Given the description of an element on the screen output the (x, y) to click on. 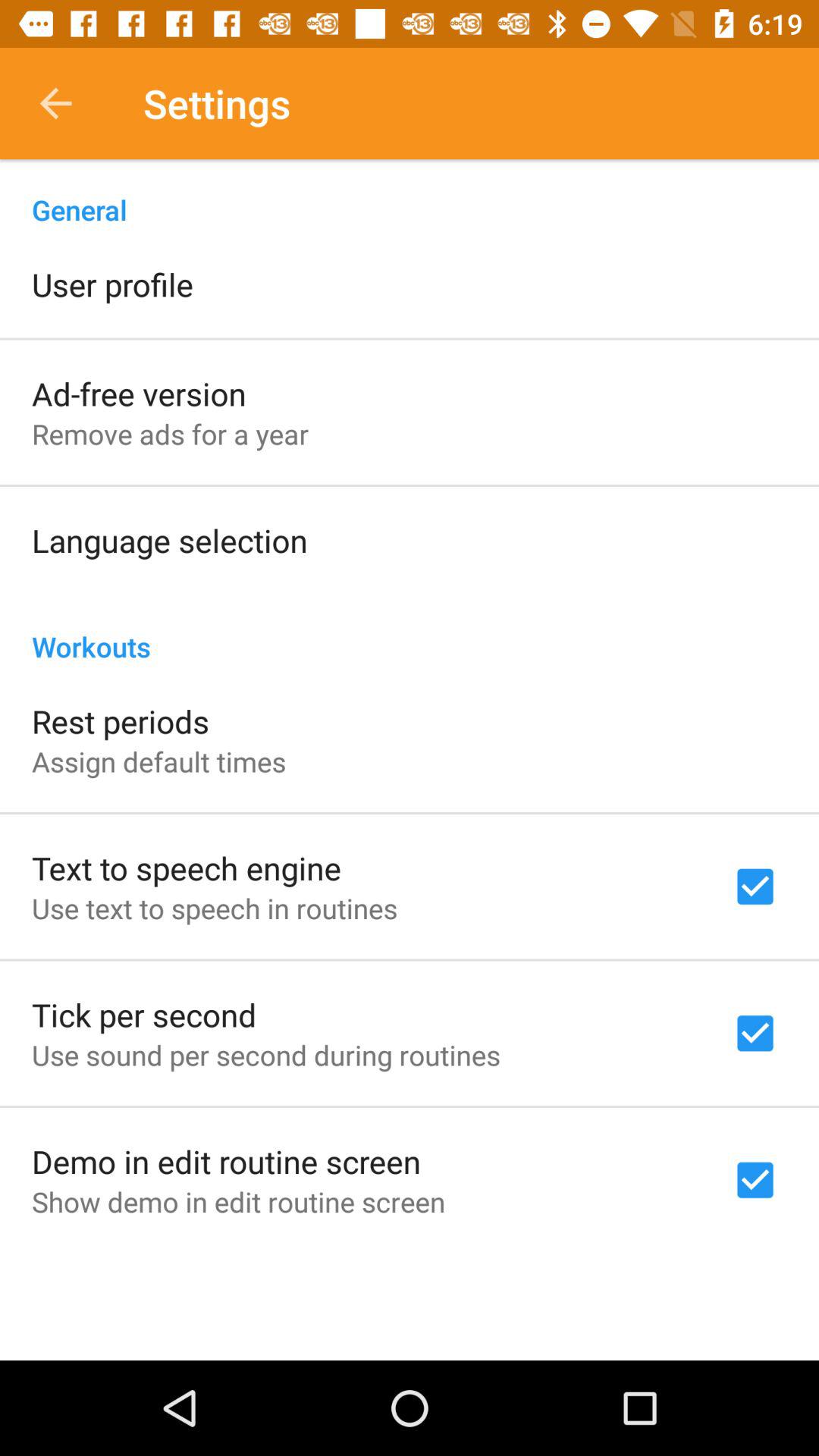
open the general item (409, 193)
